Given the description of an element on the screen output the (x, y) to click on. 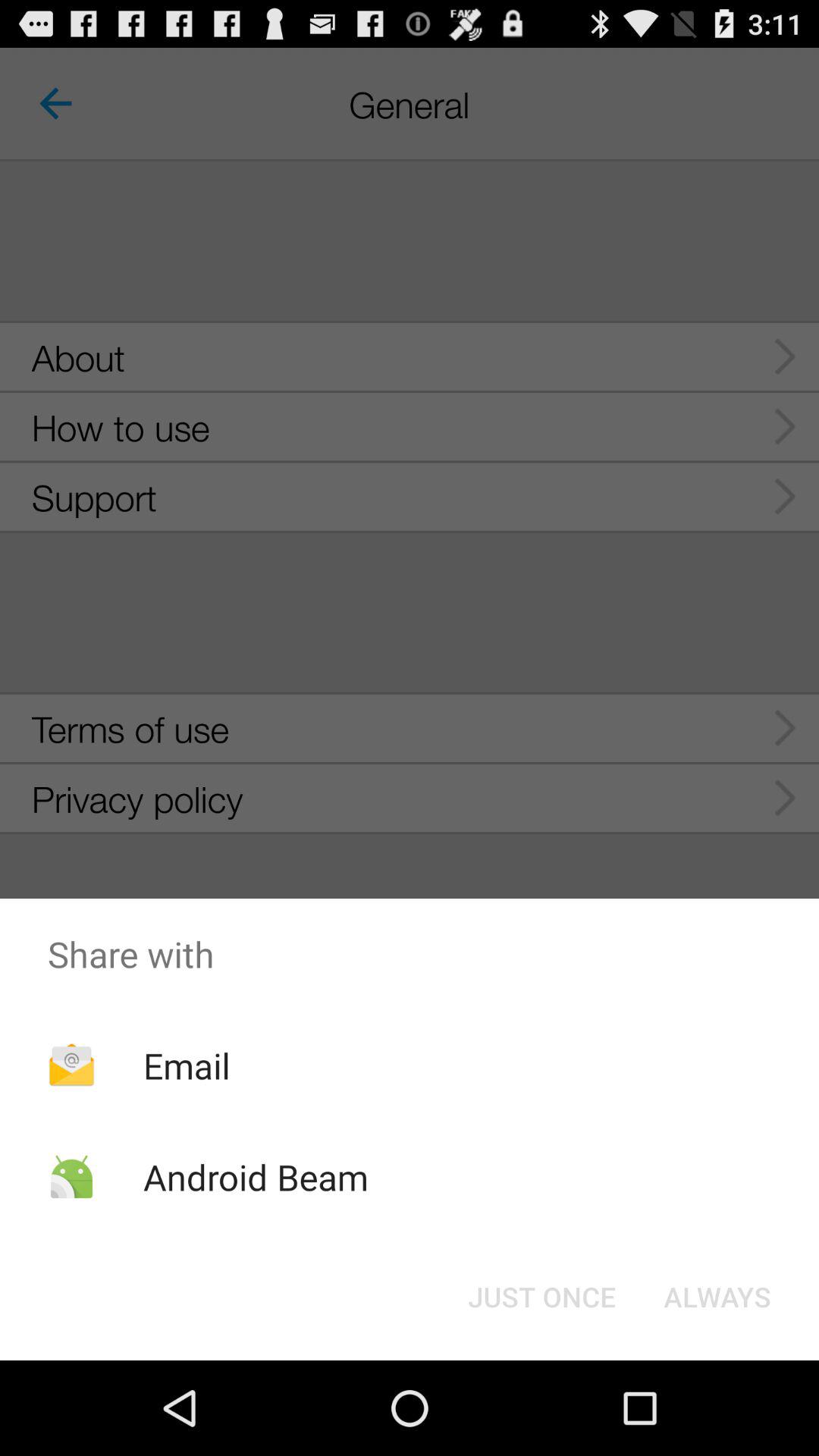
launch the just once item (541, 1296)
